Given the description of an element on the screen output the (x, y) to click on. 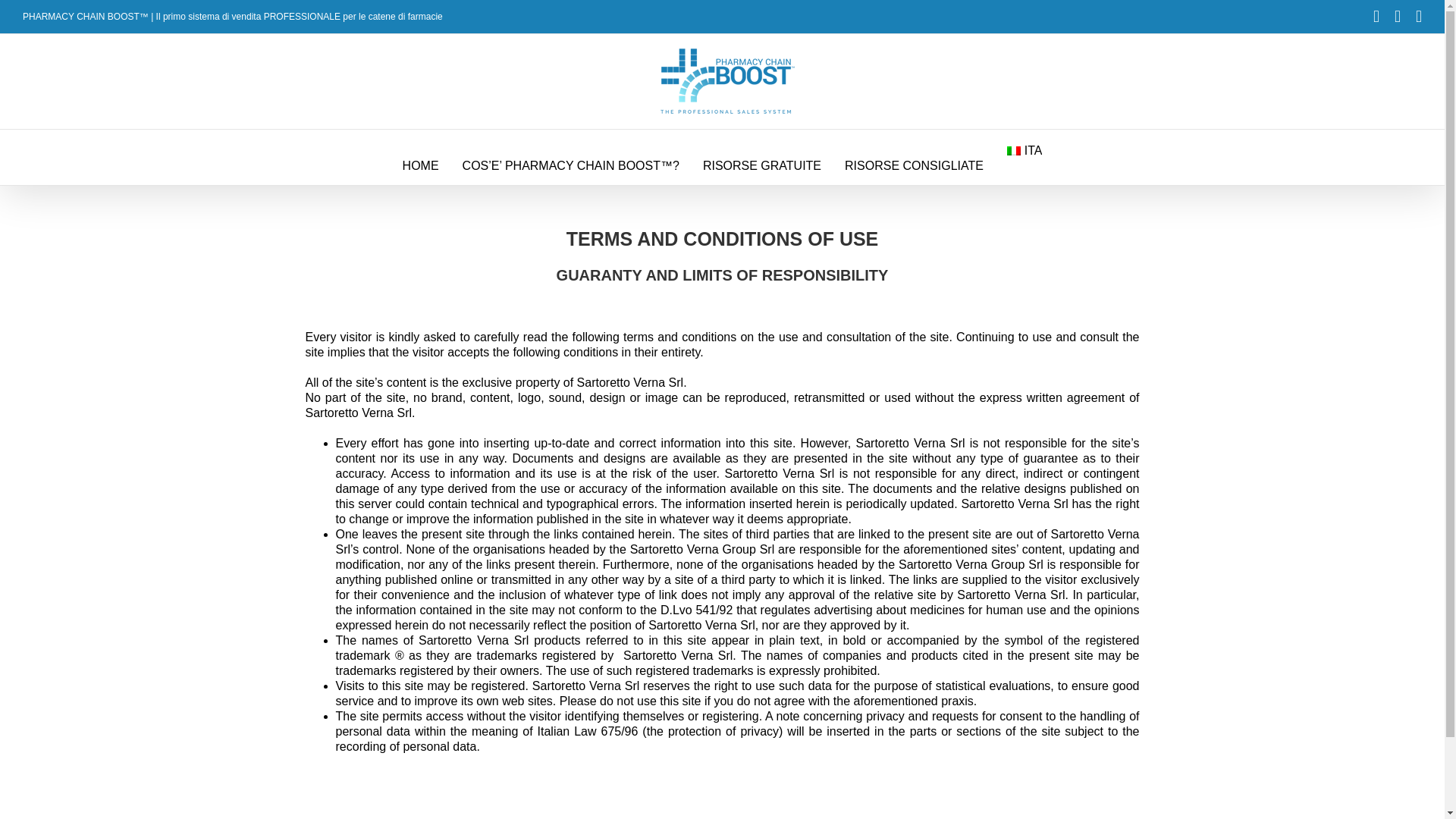
RISORSE GRATUITE (762, 164)
RISORSE CONSIGLIATE (914, 164)
HOME (421, 164)
